Given the description of an element on the screen output the (x, y) to click on. 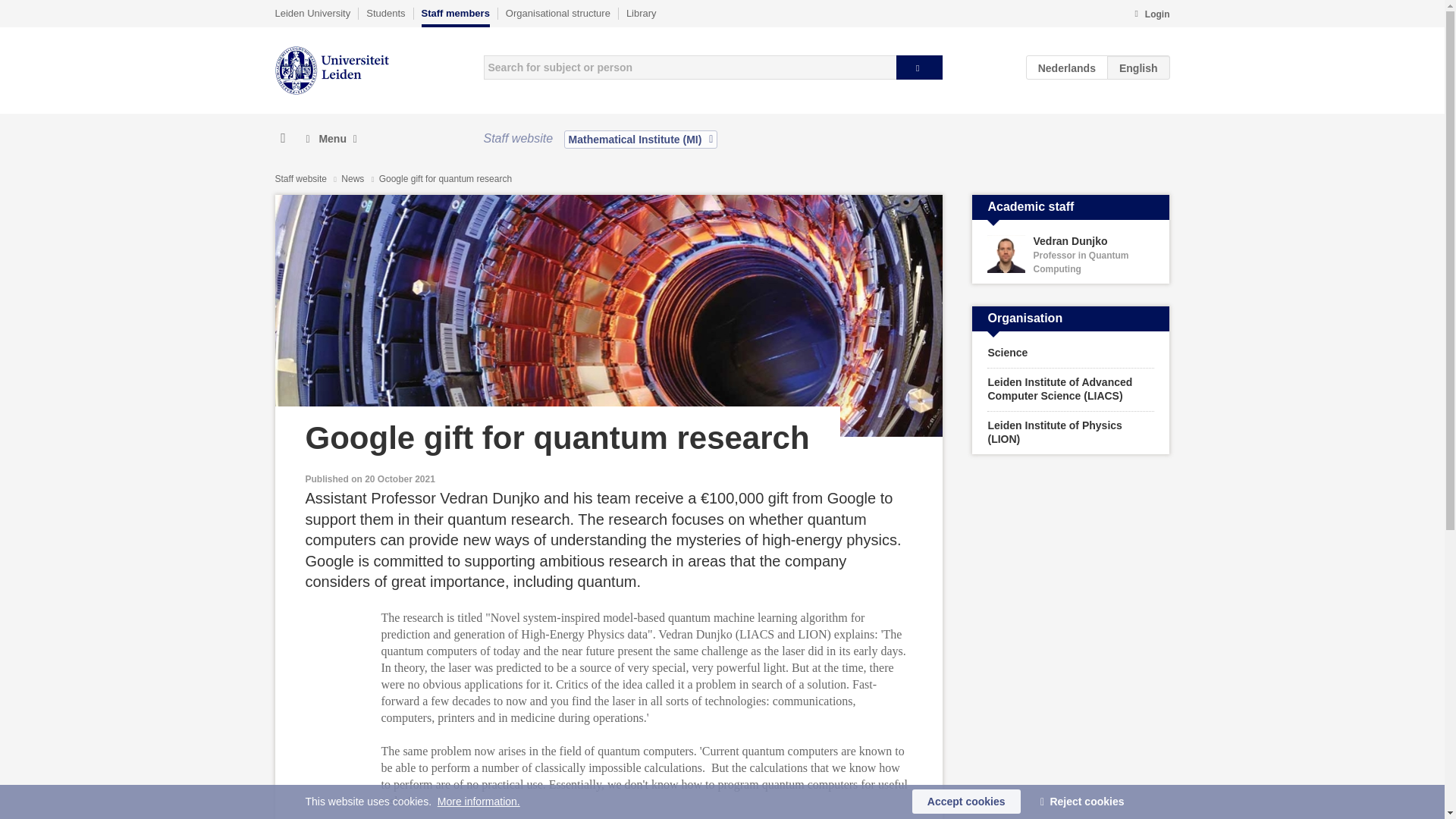
Menu (330, 139)
Leiden University (312, 13)
NL (1067, 67)
News (353, 178)
Organisational structure (1070, 255)
Login (557, 13)
Staff members (1151, 14)
Library (455, 17)
Staff website (641, 13)
